Given the description of an element on the screen output the (x, y) to click on. 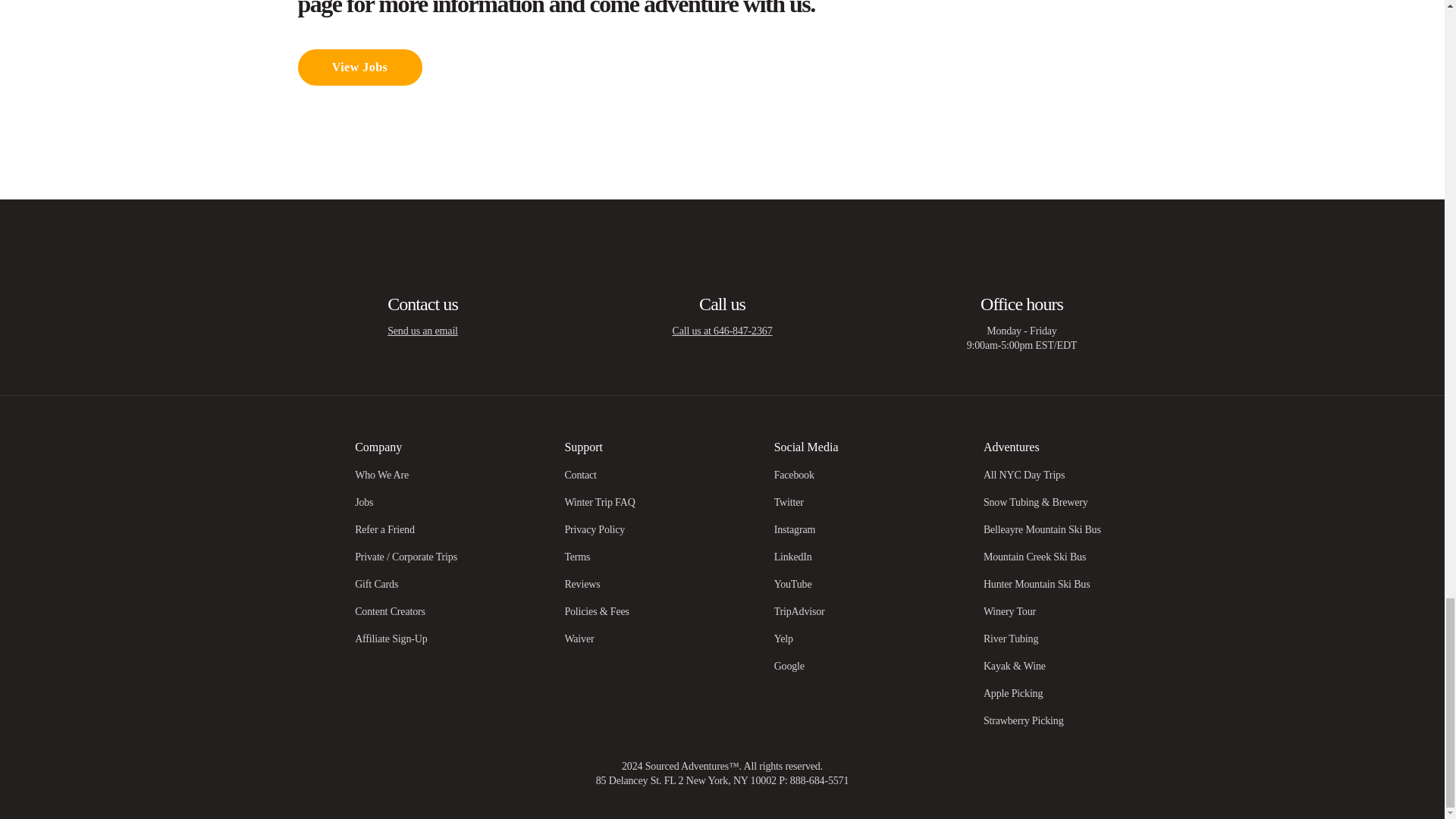
LinkedIn (793, 556)
Send us an email (422, 330)
Waiver (579, 638)
Who We Are (382, 474)
Instagram (794, 529)
Content Creators (390, 611)
View Jobs (359, 67)
All NYC Day Trips (1024, 474)
YouTube (793, 583)
Privacy Policy (594, 529)
